Given the description of an element on the screen output the (x, y) to click on. 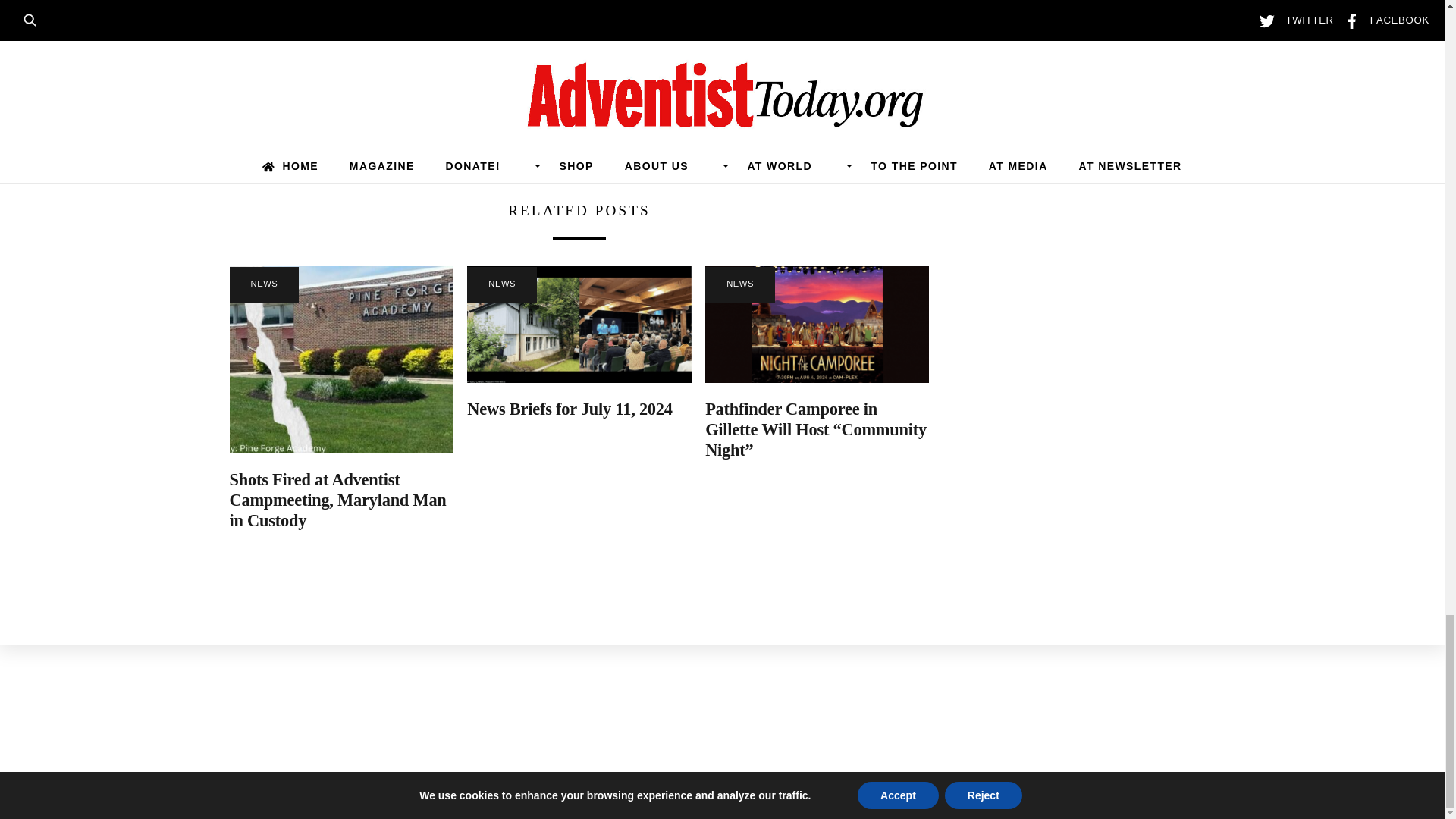
07.10.24 Night at the Camporee (816, 325)
News Briefs for July 11, 2024 (569, 408)
NEWS (263, 284)
07.15.24 Pine Forge Acad. CM Shooting (340, 359)
NEWS (502, 284)
07.11.24 News Briefs (578, 325)
